Given the description of an element on the screen output the (x, y) to click on. 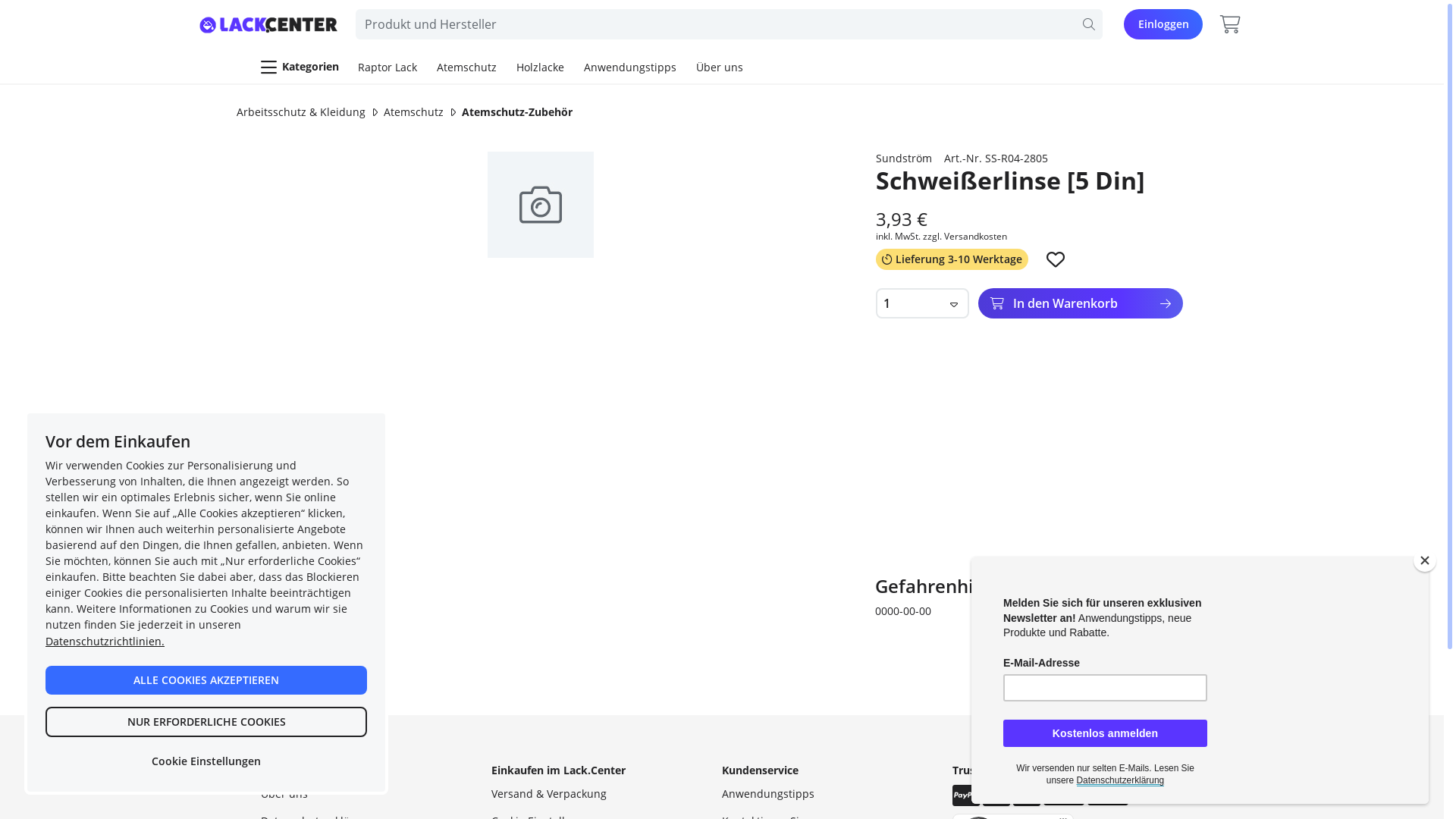
Anwendungstipps Element type: text (767, 792)
Raptor Lack Element type: text (387, 66)
Auf die Merkliste Element type: hover (1055, 258)
Versand & Verpackung Element type: text (548, 792)
Atemschutz Element type: text (413, 112)
Anwendungstipps Element type: text (630, 66)
Einloggen Element type: text (1162, 24)
Datenschutzrichtlinien. Element type: text (104, 640)
Atemschutz Element type: text (466, 66)
In den Warenkorb Element type: text (1080, 303)
Warenkorb Element type: hover (1229, 24)
Kategorien Element type: text (299, 66)
Arbeitsschutz & Kleidung Element type: text (300, 112)
NUR ERFORDERLICHE COOKIES Element type: text (206, 721)
Cookie Einstellungen Element type: text (206, 761)
ALLE COOKIES AKZEPTIEREN Element type: text (206, 679)
Holzlacke Element type: text (540, 66)
